Given the description of an element on the screen output the (x, y) to click on. 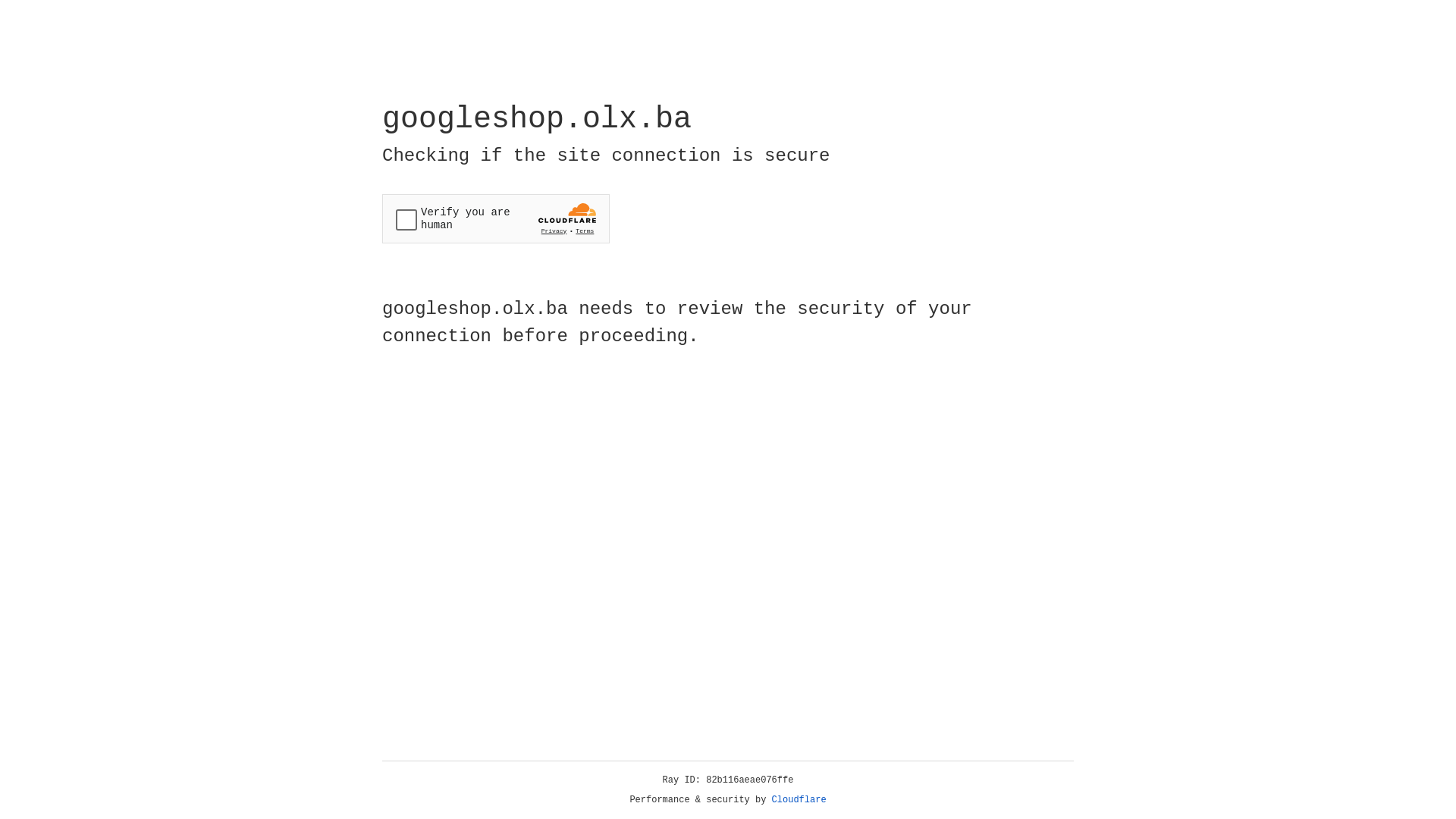
Cloudflare Element type: text (798, 799)
Widget containing a Cloudflare security challenge Element type: hover (495, 218)
